Given the description of an element on the screen output the (x, y) to click on. 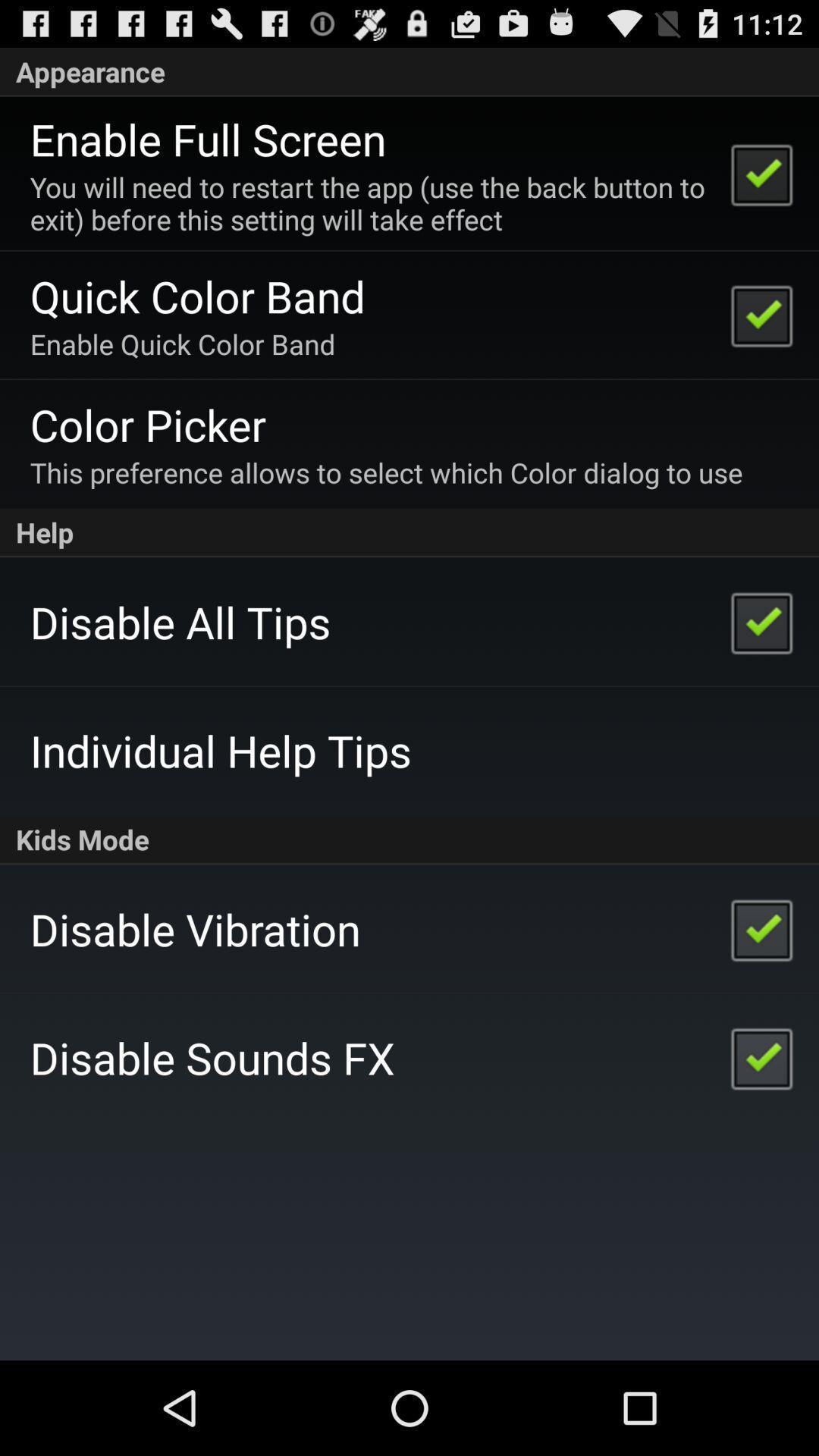
flip until this preference allows icon (386, 472)
